Given the description of an element on the screen output the (x, y) to click on. 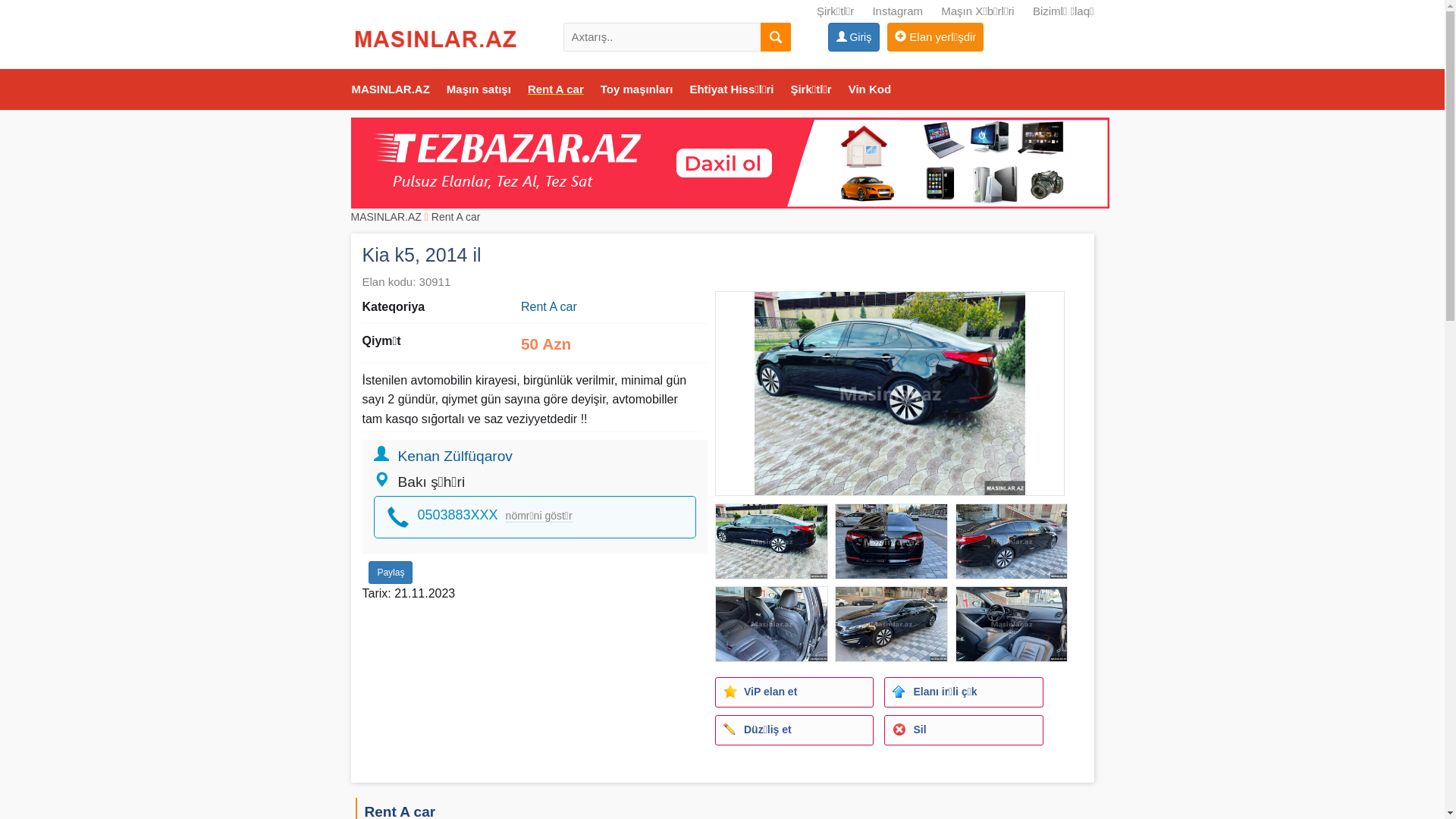
MASINLAR.AZ Element type: text (385, 216)
Rent A car Element type: text (455, 216)
Elanlar sayti, Pulsuz Elanlar alqi satqi sayti Element type: hover (729, 161)
  Element type: text (774, 36)
Kia k5, 2014 il Element type: hover (889, 393)
ViP elan et Element type: text (793, 691)
Sil Element type: text (962, 729)
Vin Kod Element type: text (869, 89)
Rent A car Element type: text (548, 306)
Rent A car Element type: text (555, 89)
MASINLAR.AZ Element type: text (389, 89)
Instagram Element type: text (897, 10)
